Given the description of an element on the screen output the (x, y) to click on. 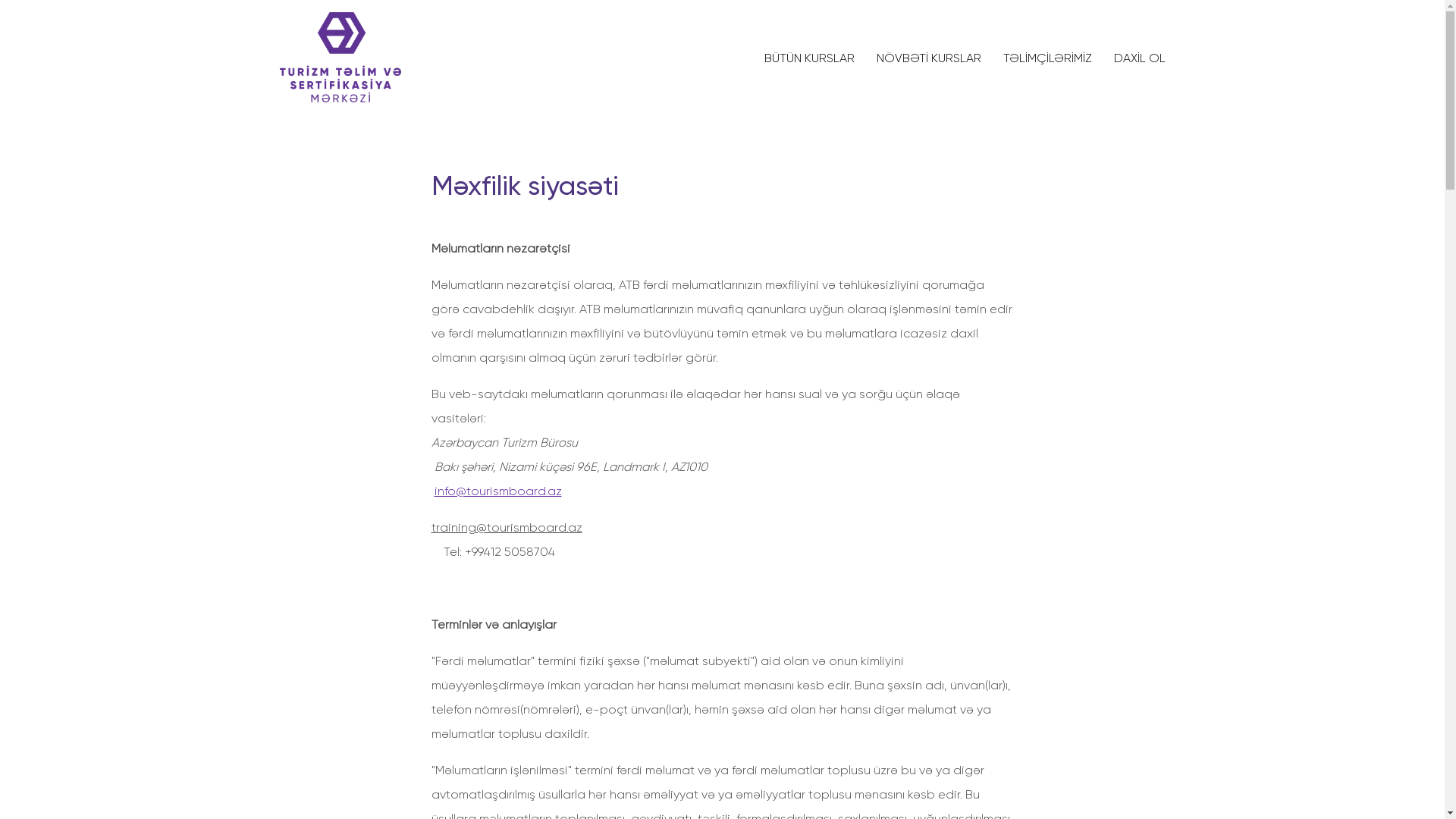
info@tourismboard.az Element type: text (497, 490)
